Given the description of an element on the screen output the (x, y) to click on. 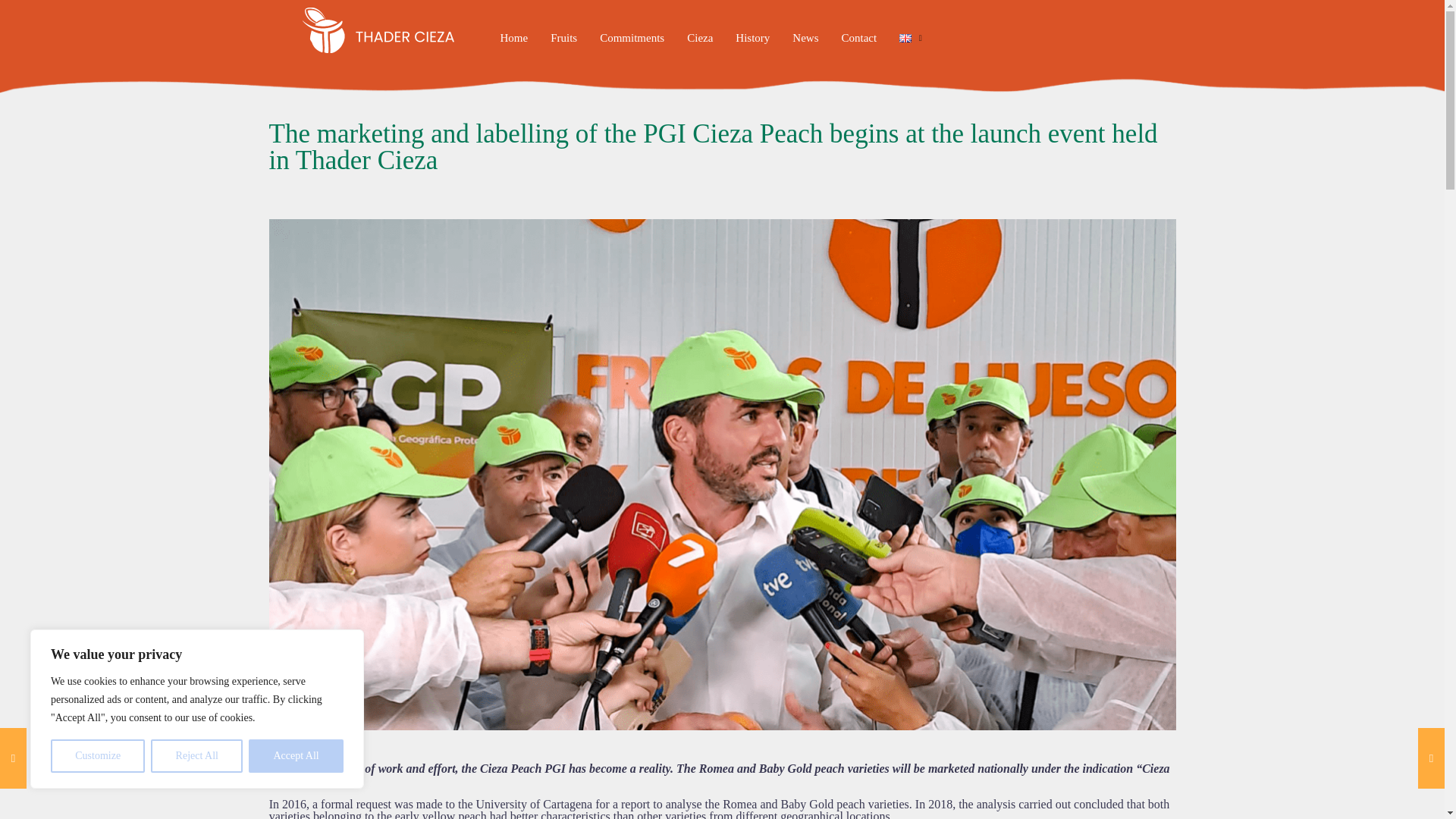
Logo thader cieza blanco (376, 30)
History (751, 37)
Reject All (197, 756)
Contact (858, 37)
Accept All (295, 756)
Customize (97, 756)
Commitments (631, 37)
